Given the description of an element on the screen output the (x, y) to click on. 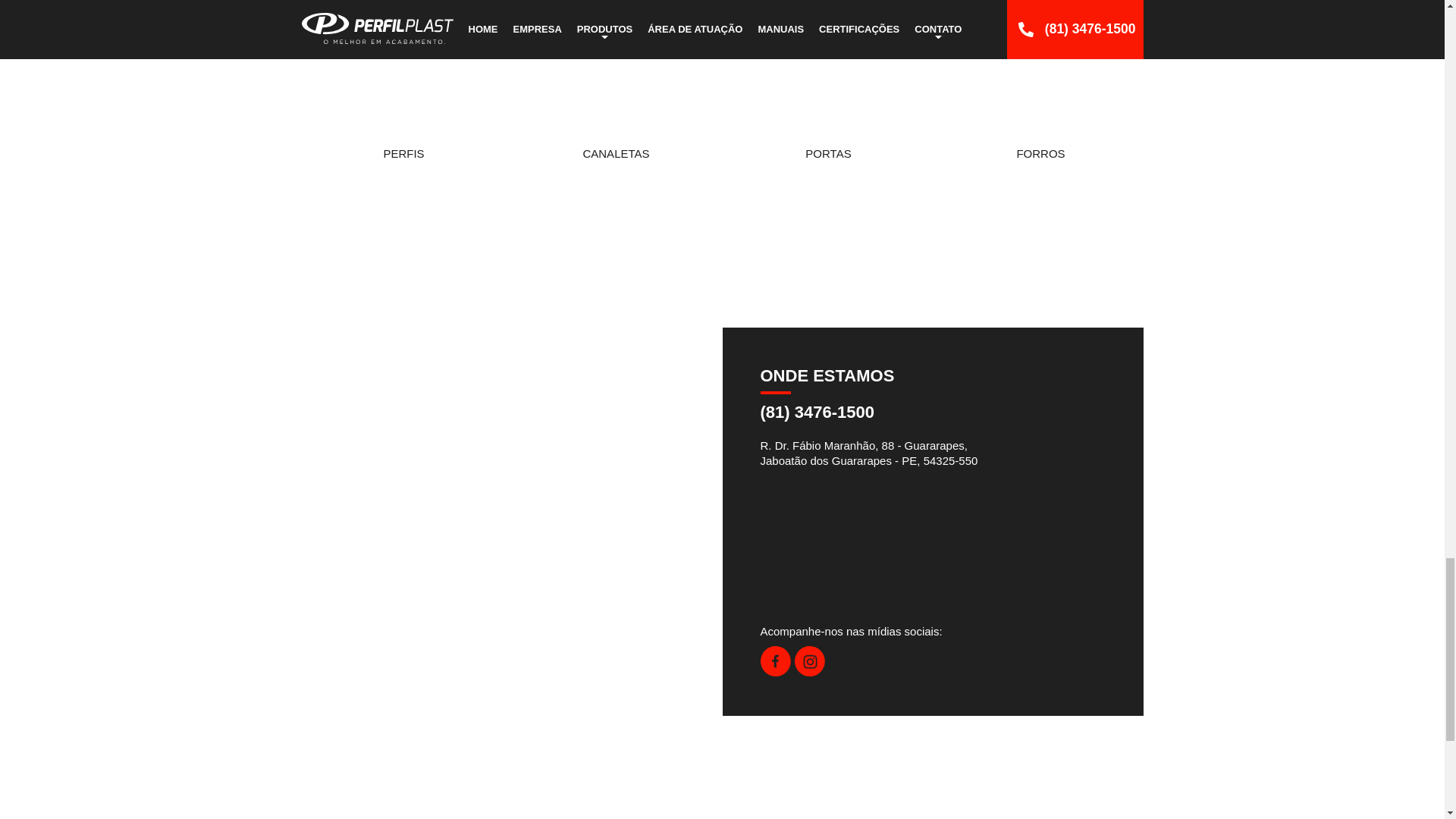
PERFIS (403, 88)
FORROS (1040, 88)
PORTAS (828, 88)
Facebook (775, 671)
Instagram (809, 671)
CANALETAS (616, 88)
